Given the description of an element on the screen output the (x, y) to click on. 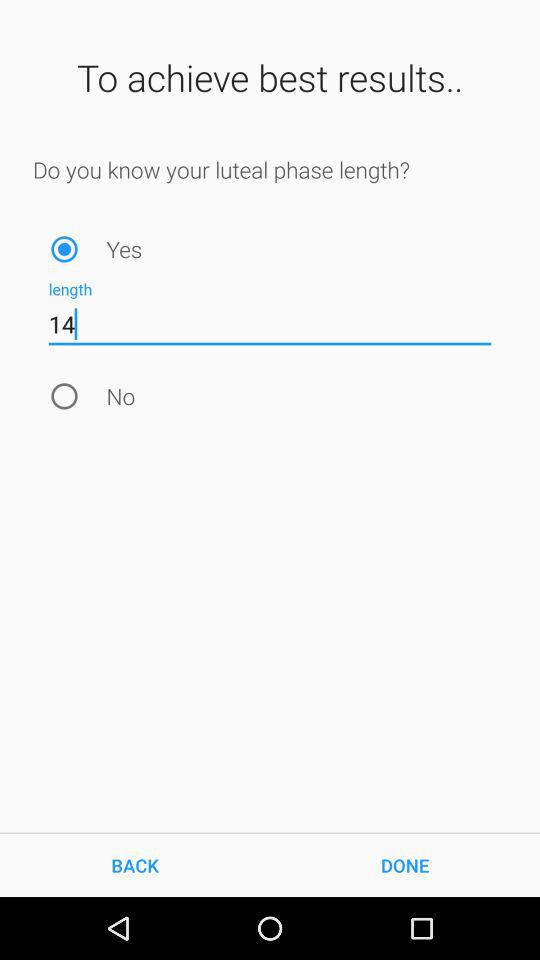
swipe until the back icon (135, 864)
